Given the description of an element on the screen output the (x, y) to click on. 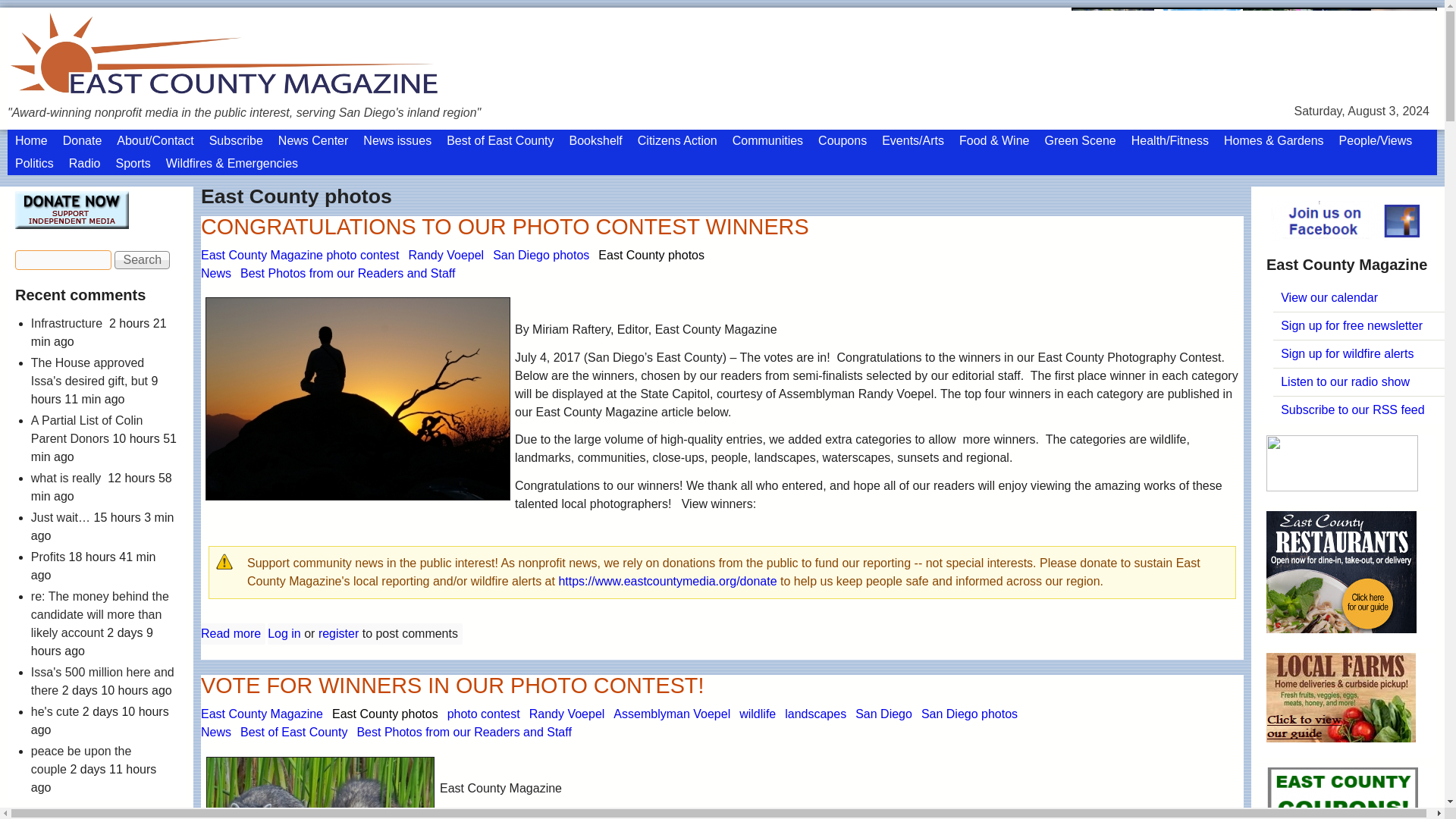
News Center (312, 140)
Search (142, 259)
Subscribe (236, 140)
Donate (82, 140)
Best of East County (499, 140)
News issues (397, 140)
Home (31, 140)
